Given the description of an element on the screen output the (x, y) to click on. 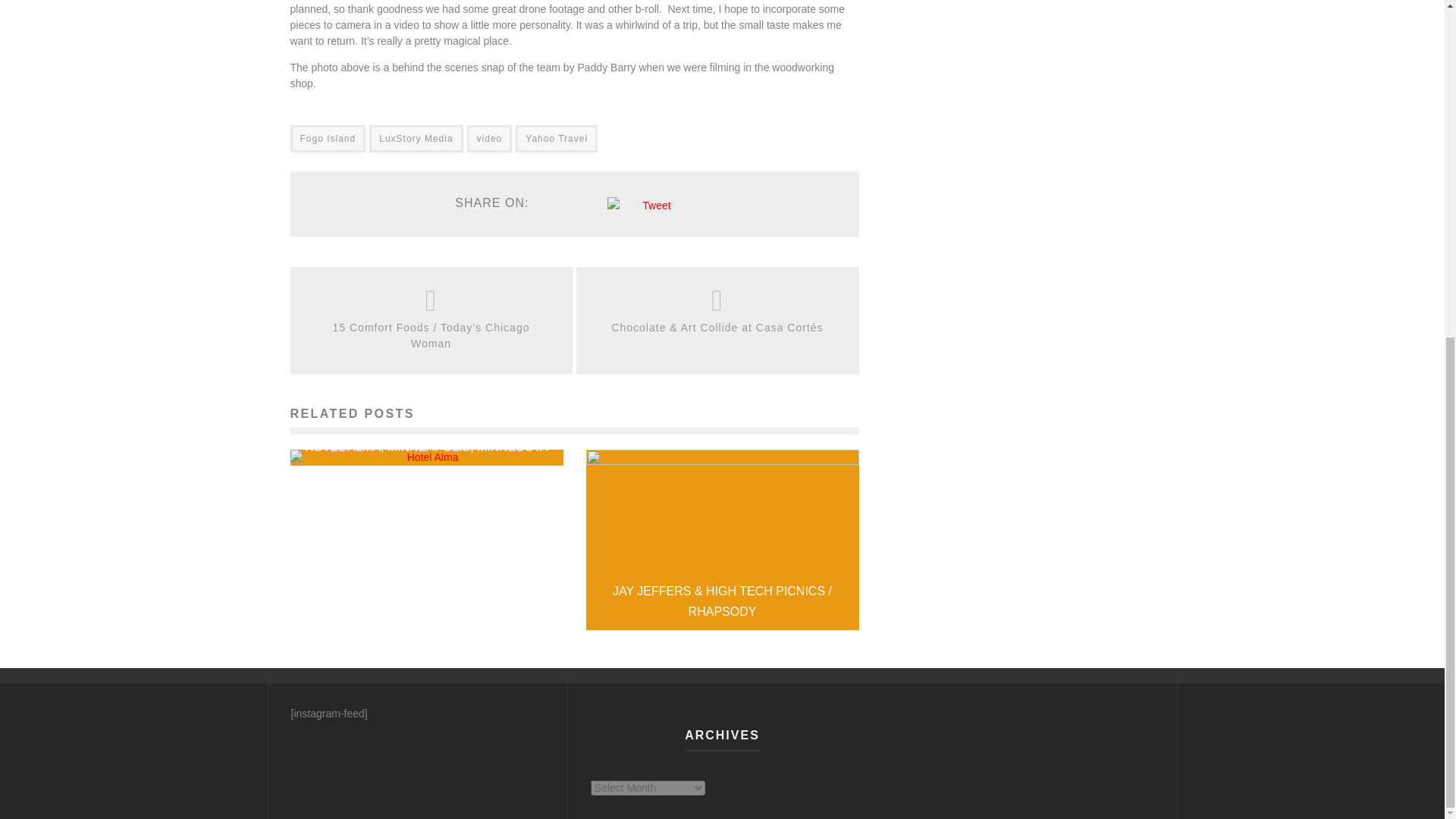
Yahoo Travel (555, 138)
Fogo Island (327, 138)
video (489, 138)
HOTEL ALMA, MINNEAPOLIS, MINNESOTA (426, 446)
LuxStory Media (416, 138)
Tweet (655, 205)
